Given the description of an element on the screen output the (x, y) to click on. 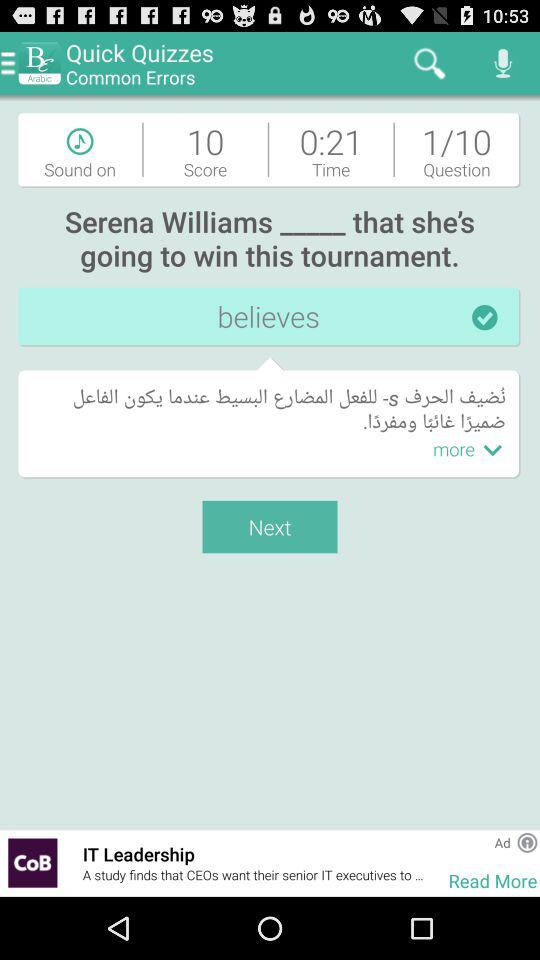
click the item above the it leadership item (269, 526)
